Given the description of an element on the screen output the (x, y) to click on. 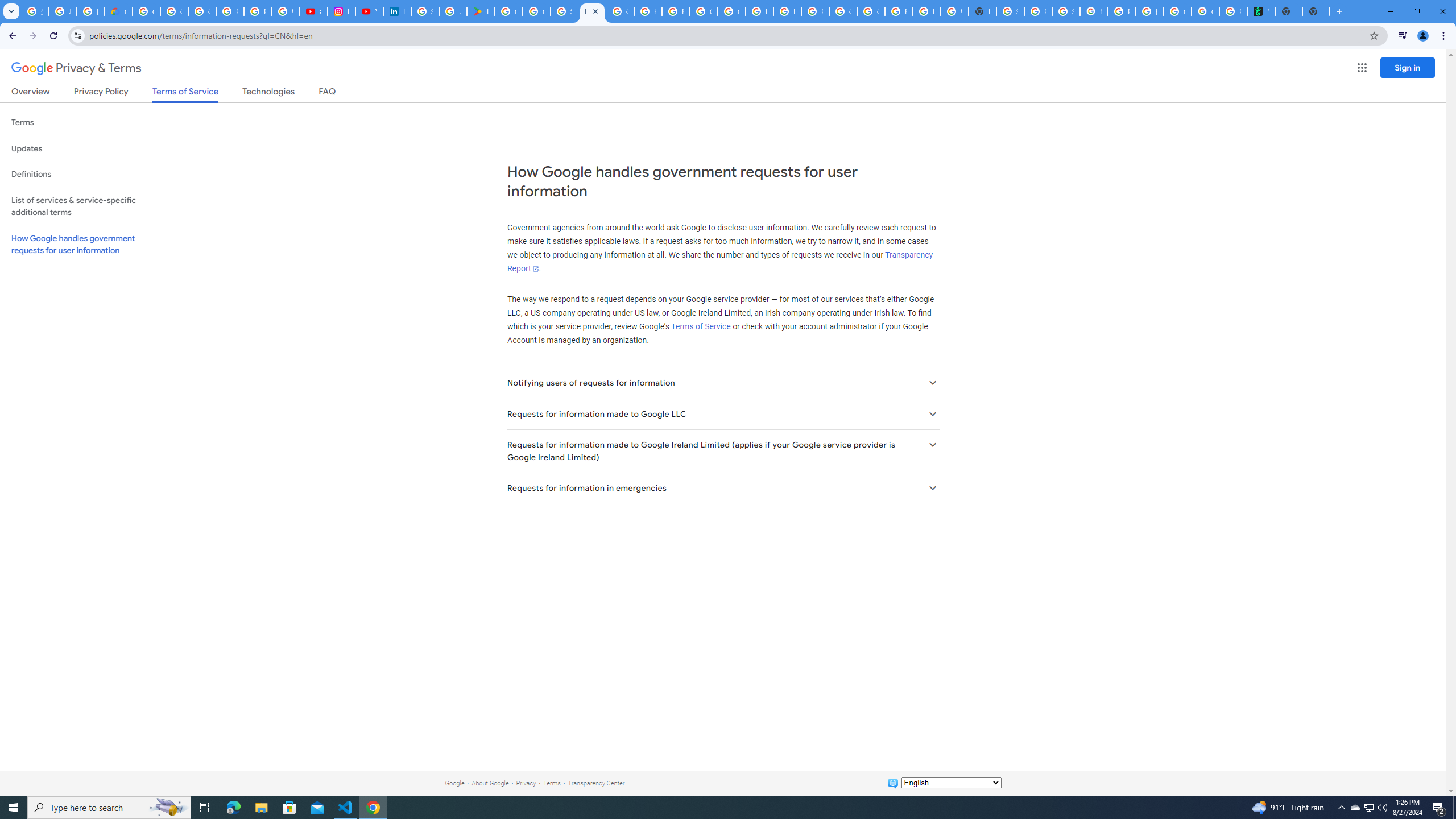
Requests for information in emergencies (722, 488)
Notifying users of requests for information (722, 382)
About Google (490, 783)
Sign in - Google Accounts (1010, 11)
